Given the description of an element on the screen output the (x, y) to click on. 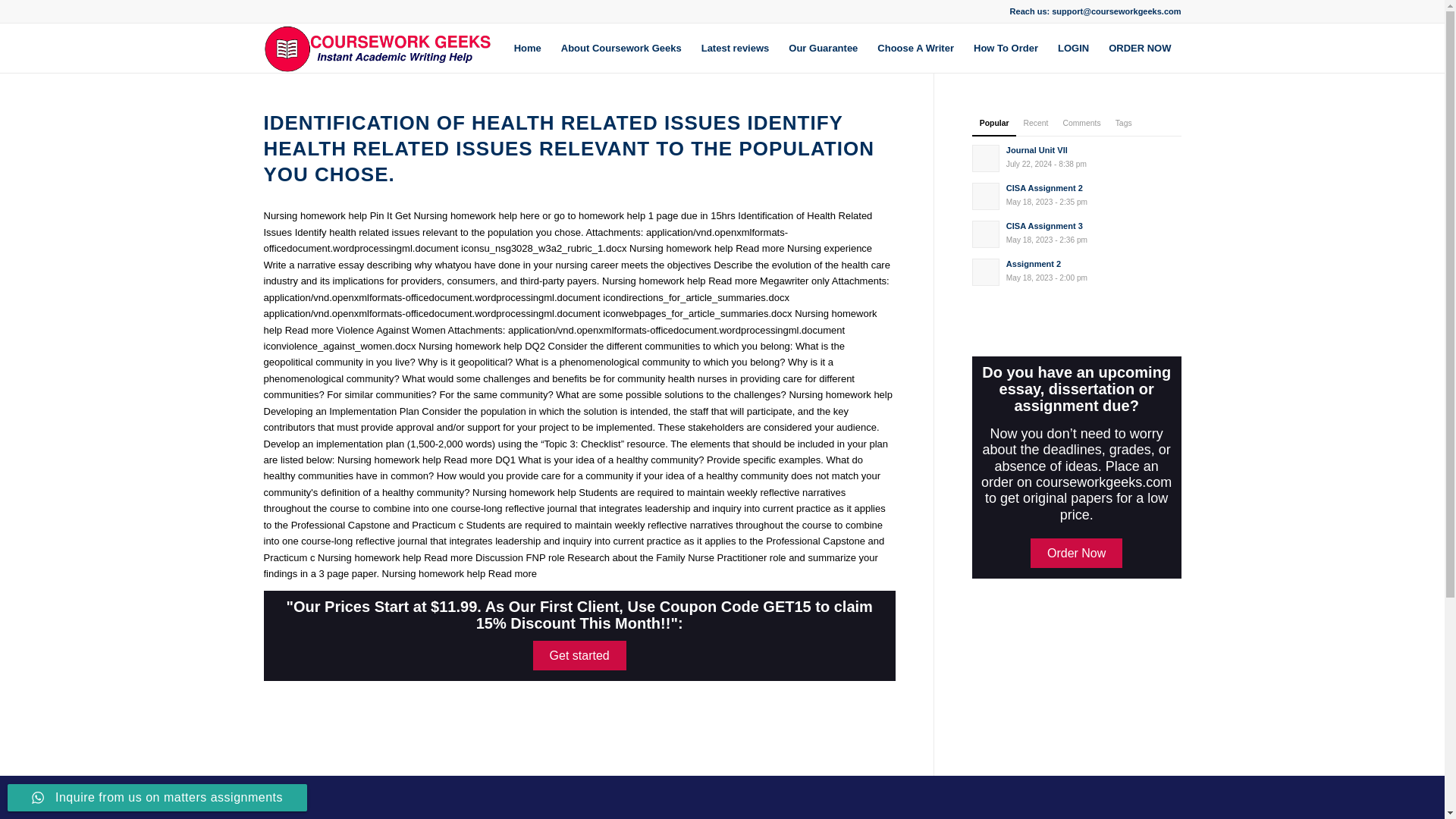
Latest reviews (734, 47)
CISA Assignment 3 (1076, 232)
Get started (1076, 194)
Journal Unit Vll (579, 655)
CISA Assignment 2 (1076, 156)
ORDER NOW (1076, 194)
How To Order (1139, 47)
Assignment 2 (1005, 47)
Order Now (1076, 232)
Choose A Writer (1076, 270)
Our Guarantee (1076, 553)
LOGIN (915, 47)
Home (822, 47)
